Given the description of an element on the screen output the (x, y) to click on. 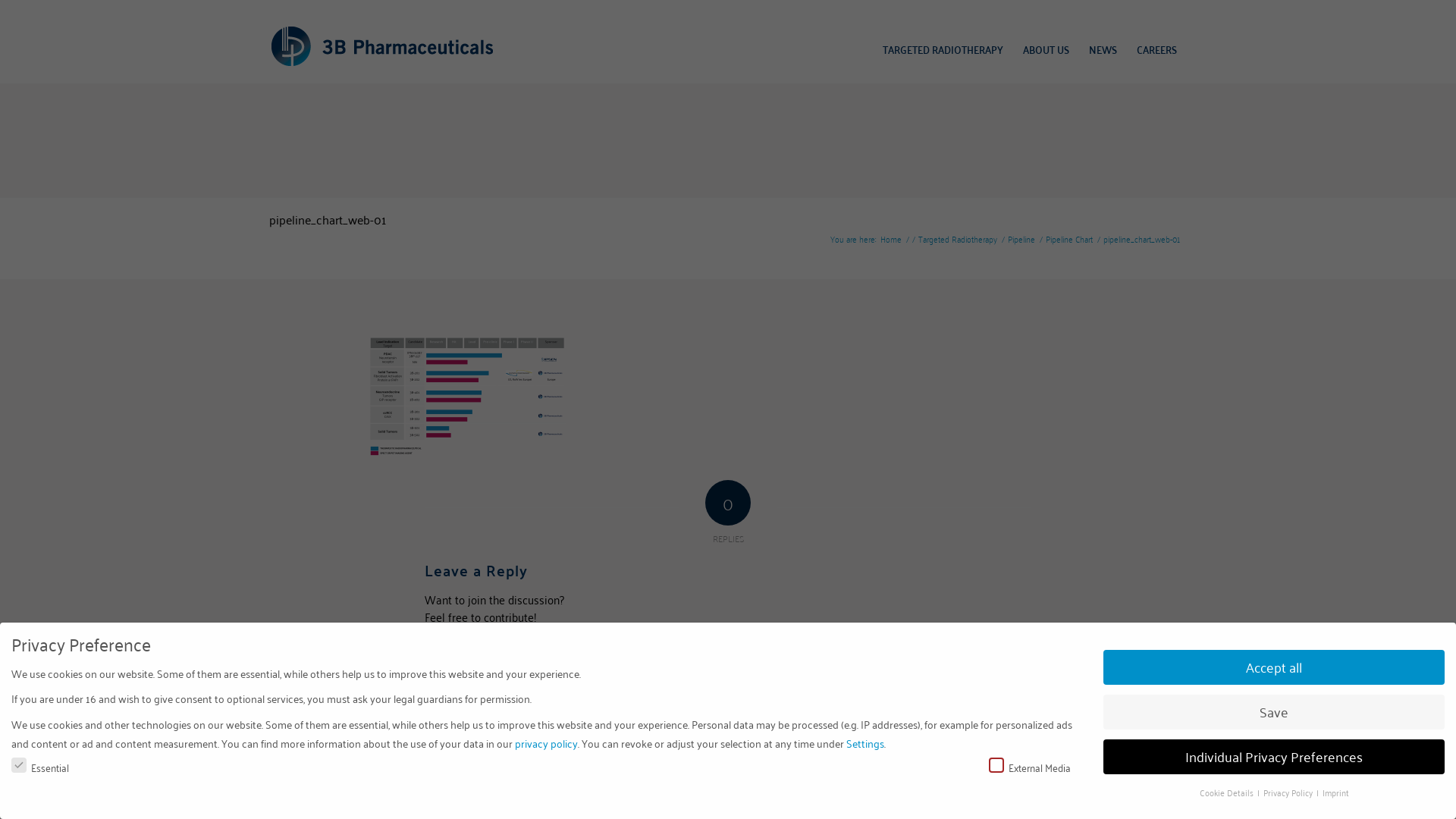
Data privacy statement Element type: text (465, 742)
privacy policy Element type: text (545, 742)
Targeted Radiotherapy Element type: text (957, 238)
Individual Privacy Preferences Element type: text (1273, 756)
Save Element type: text (1273, 711)
Imprint Element type: text (392, 742)
+49 (0)30 / 63 92 - 43 17 Element type: text (328, 783)
ABOUT US Element type: text (1046, 48)
Accept all Element type: text (1273, 666)
Pipeline Chart Element type: text (1069, 238)
Pipeline Element type: text (1021, 238)
Settings Element type: text (865, 742)
Imprint Element type: text (1335, 792)
TARGETED RADIOTHERAPY Element type: text (942, 48)
logged in Element type: text (523, 651)
Home Element type: text (890, 238)
Fax: +49 (0)30 / 63 92 - 43 16 Element type: text (321, 798)
pipeline_chart_web-01 Element type: text (327, 218)
CAREERS Element type: text (1156, 48)
logo Element type: hover (382, 45)
Cookie Details Element type: text (1227, 792)
NEWS Element type: text (1102, 48)
Privacy Policy Element type: text (1288, 792)
